Given the description of an element on the screen output the (x, y) to click on. 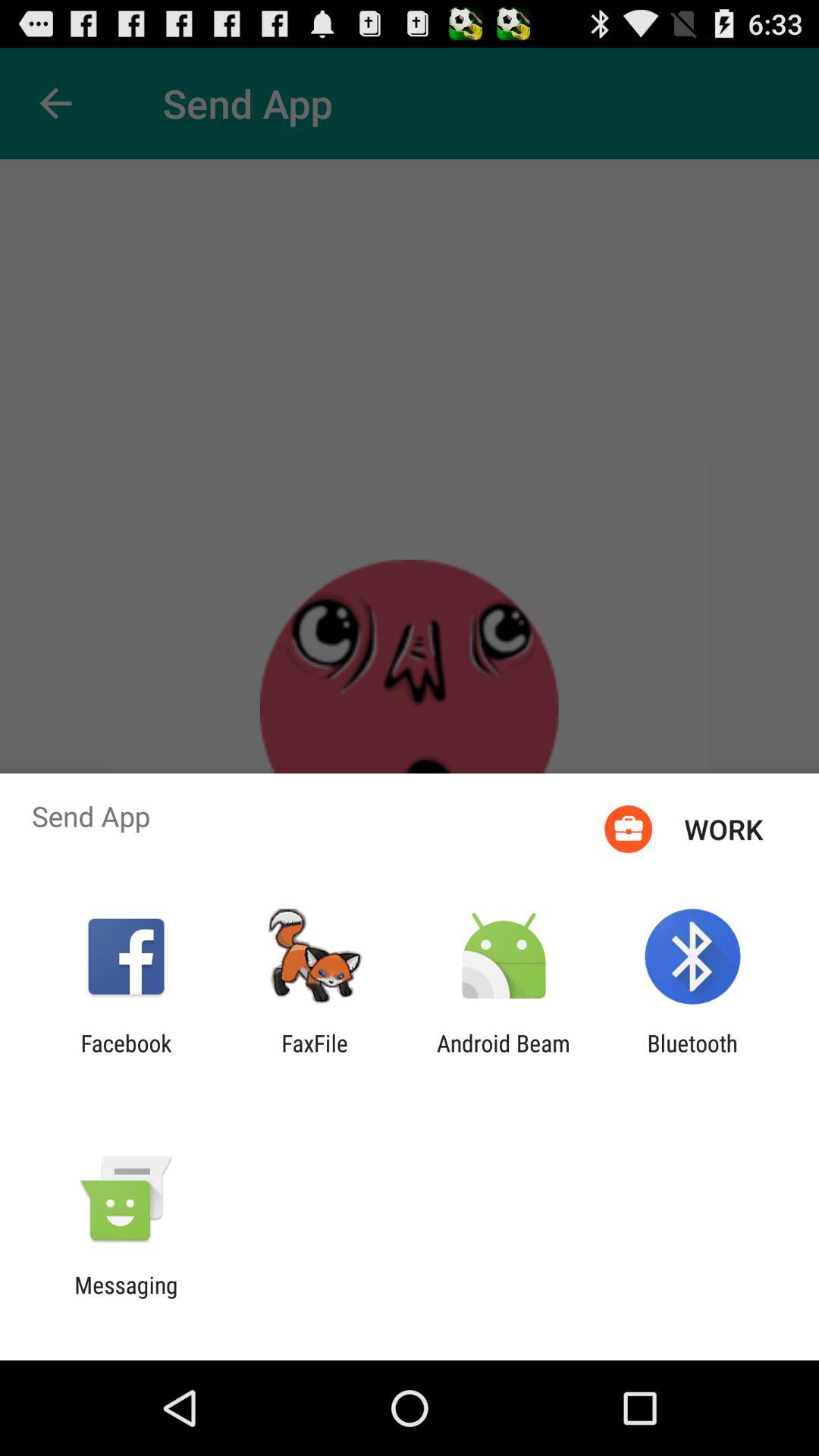
choose icon to the right of faxfile item (503, 1056)
